Given the description of an element on the screen output the (x, y) to click on. 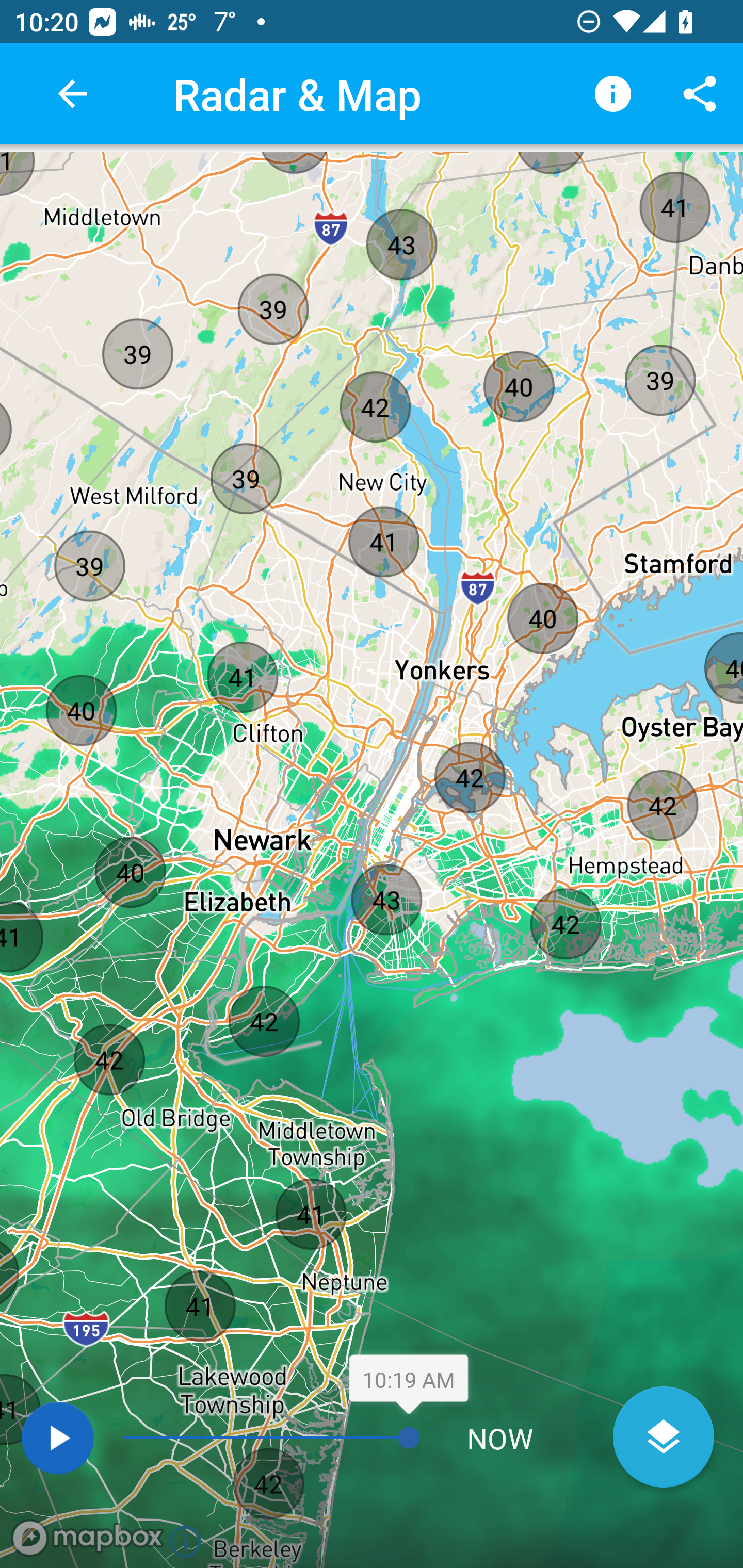
back (71, 93)
Legend (612, 93)
Share (699, 93)
Open layers menu. (663, 1437)
Play map layers animation. (57, 1437)
